Given the description of an element on the screen output the (x, y) to click on. 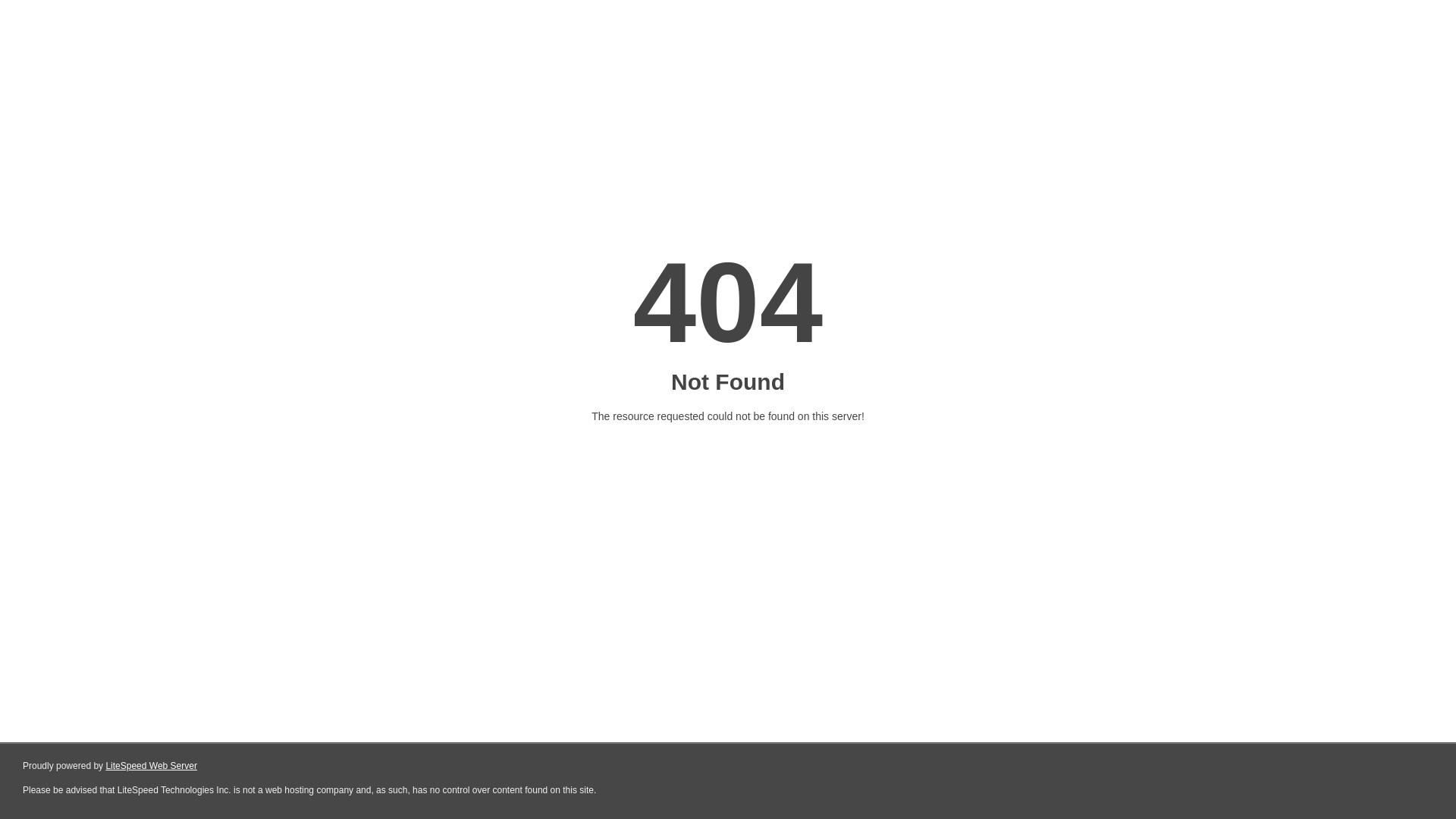
LiteSpeed Web Server Element type: text (151, 765)
